Given the description of an element on the screen output the (x, y) to click on. 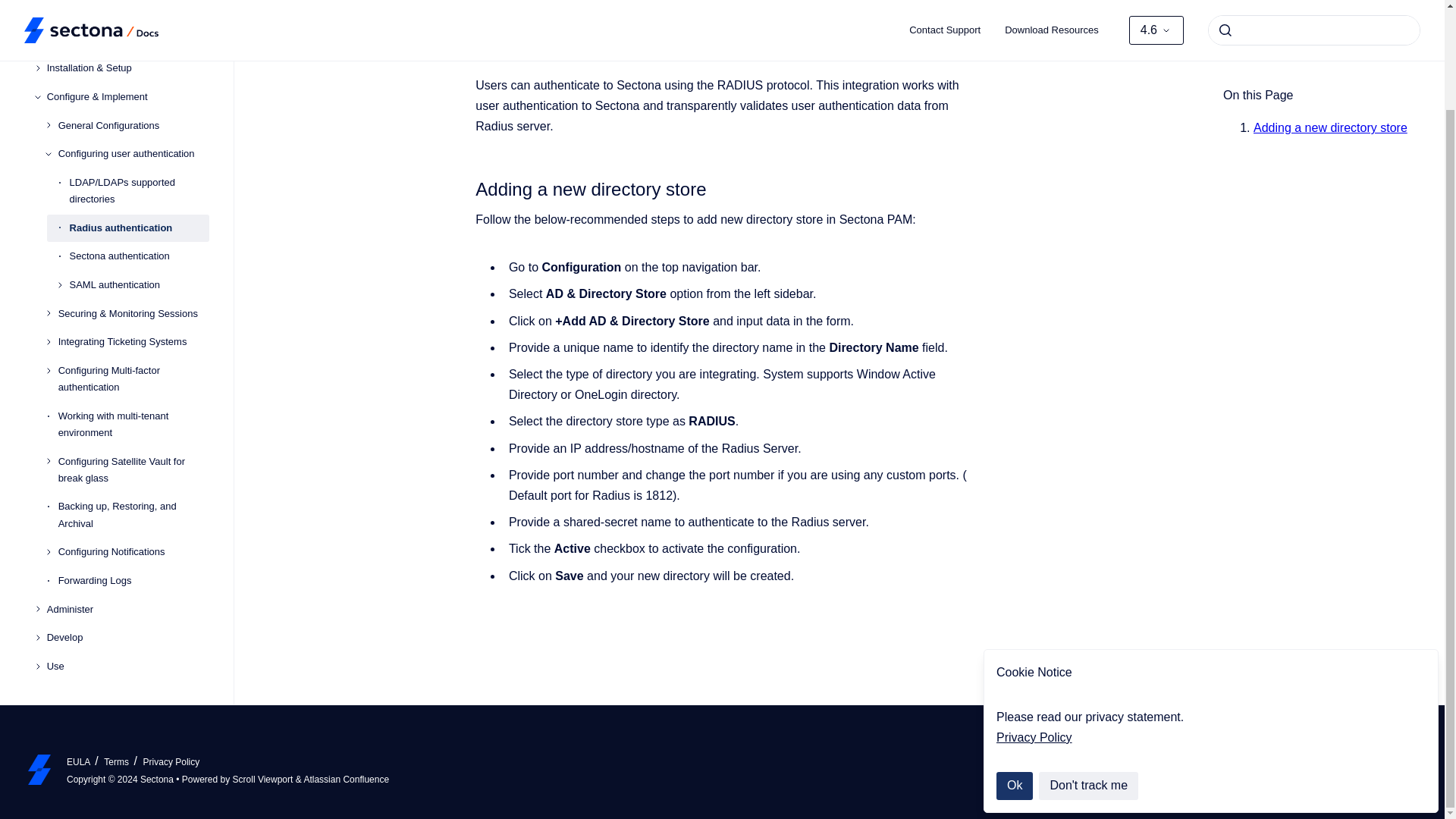
Privacy Policy (1033, 621)
Backing up, Restoring, and Archival (133, 488)
Ok (1013, 670)
Integrating Ticketing Systems (133, 315)
Forwarding Logs (133, 553)
Configuring Multi-factor authentication (133, 351)
Working with multi-tenant environment (133, 397)
Release Notes (127, 13)
Don't track me (1088, 670)
General Configurations (133, 98)
SAML authentication (139, 257)
Configuring Satellite Vault for break glass (133, 442)
Sectona authentication (139, 229)
Configuring user authentication (133, 126)
Configuring Notifications (133, 524)
